Given the description of an element on the screen output the (x, y) to click on. 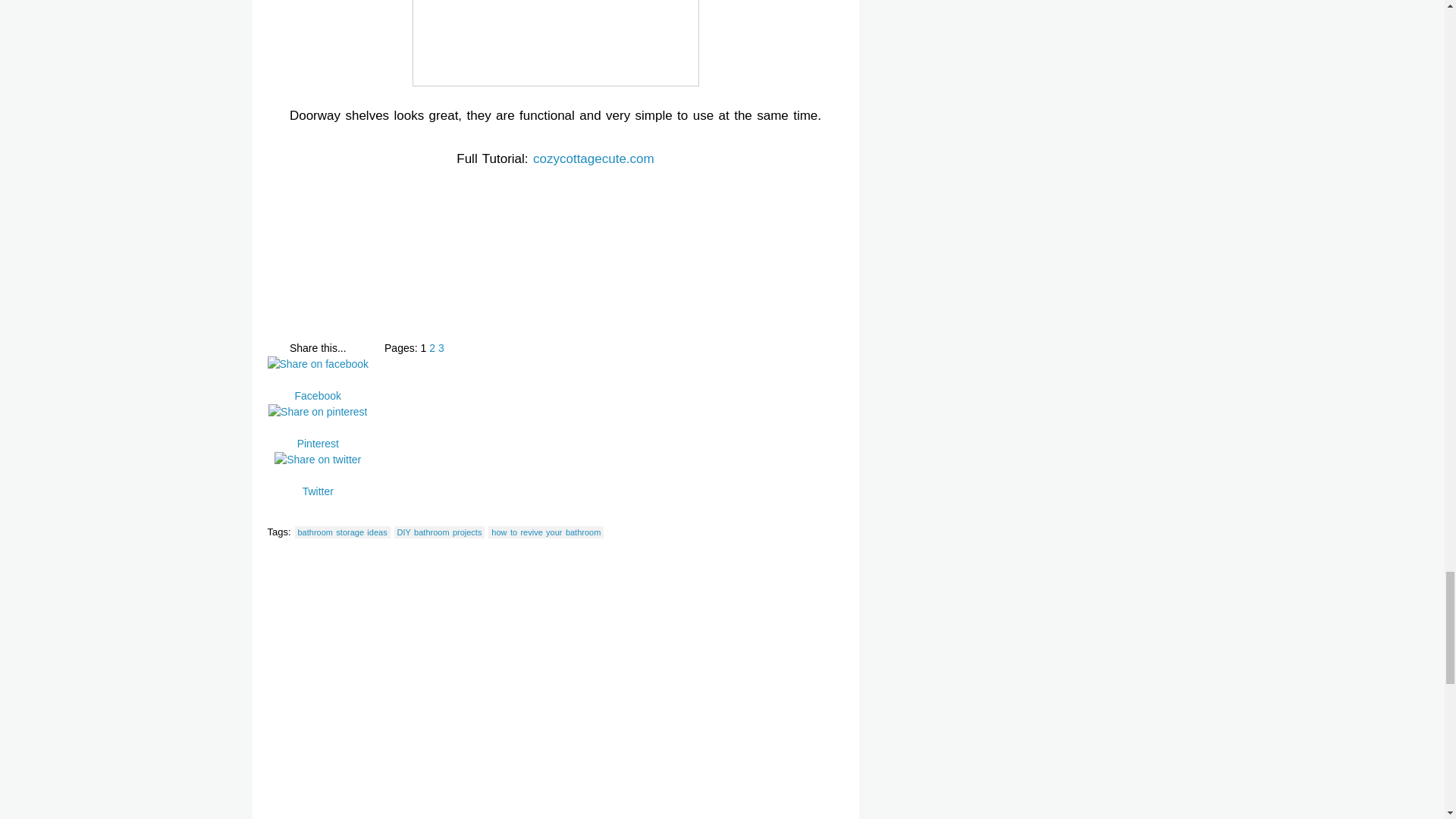
Pinterest (317, 435)
Facebook (317, 396)
DIY bathroom projects (439, 532)
twitter (318, 459)
Twitter (317, 476)
Pinterest (317, 443)
how to revive your bathroom (545, 532)
cozycottagecute.com (592, 158)
pinterest (316, 412)
Facebook (317, 387)
